Given the description of an element on the screen output the (x, y) to click on. 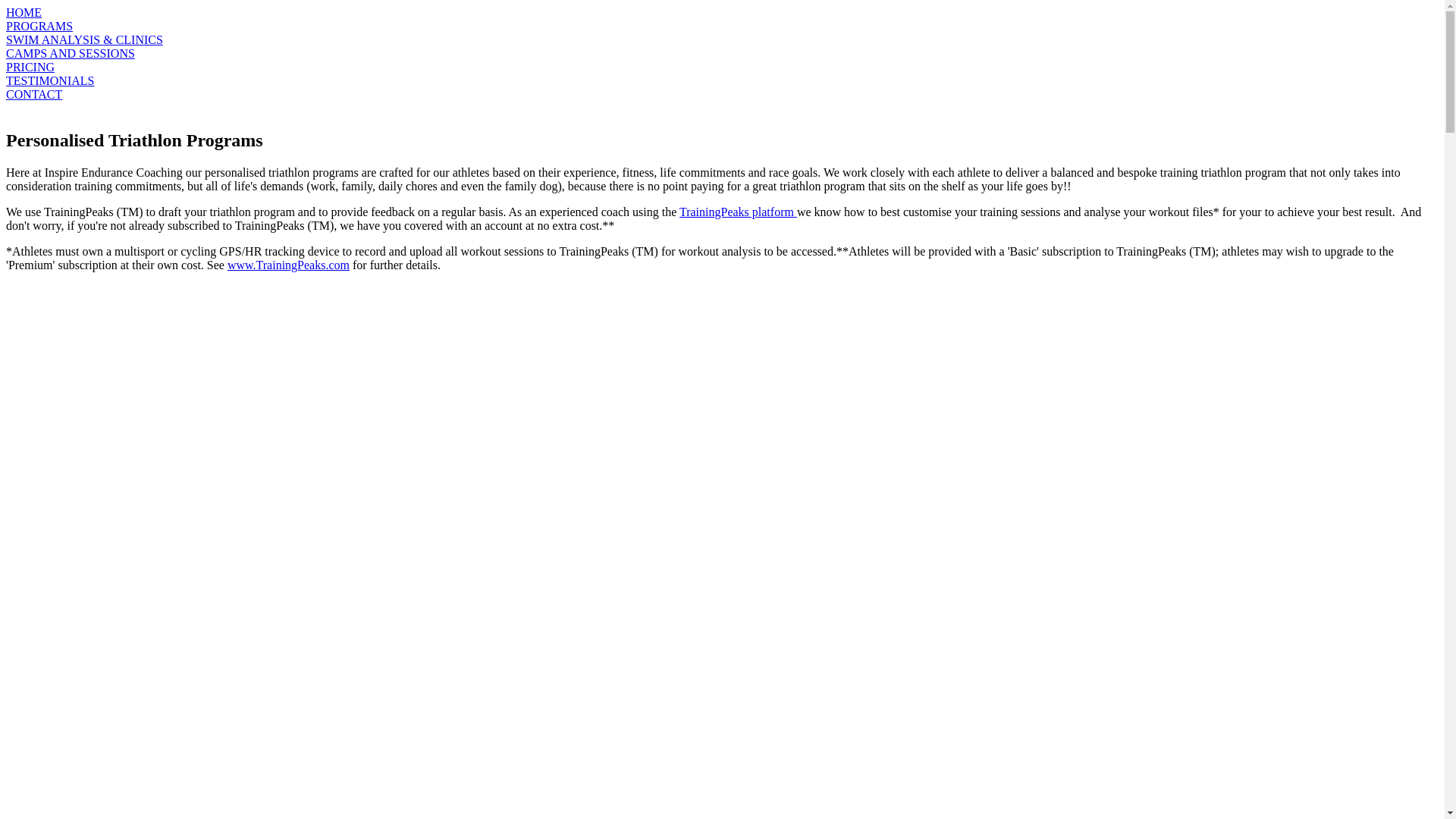
HOME Element type: text (722, 12)
CAMPS AND SESSIONS Element type: text (722, 53)
PRICING Element type: text (722, 67)
www.TrainingPeaks.com Element type: text (288, 264)
TESTIMONIALS Element type: text (722, 80)
PROGRAMS Element type: text (722, 26)
TrainingPeaks platform  Element type: text (738, 211)
SWIM ANALYSIS & CLINICS Element type: text (722, 40)
CONTACT Element type: text (722, 94)
